Given the description of an element on the screen output the (x, y) to click on. 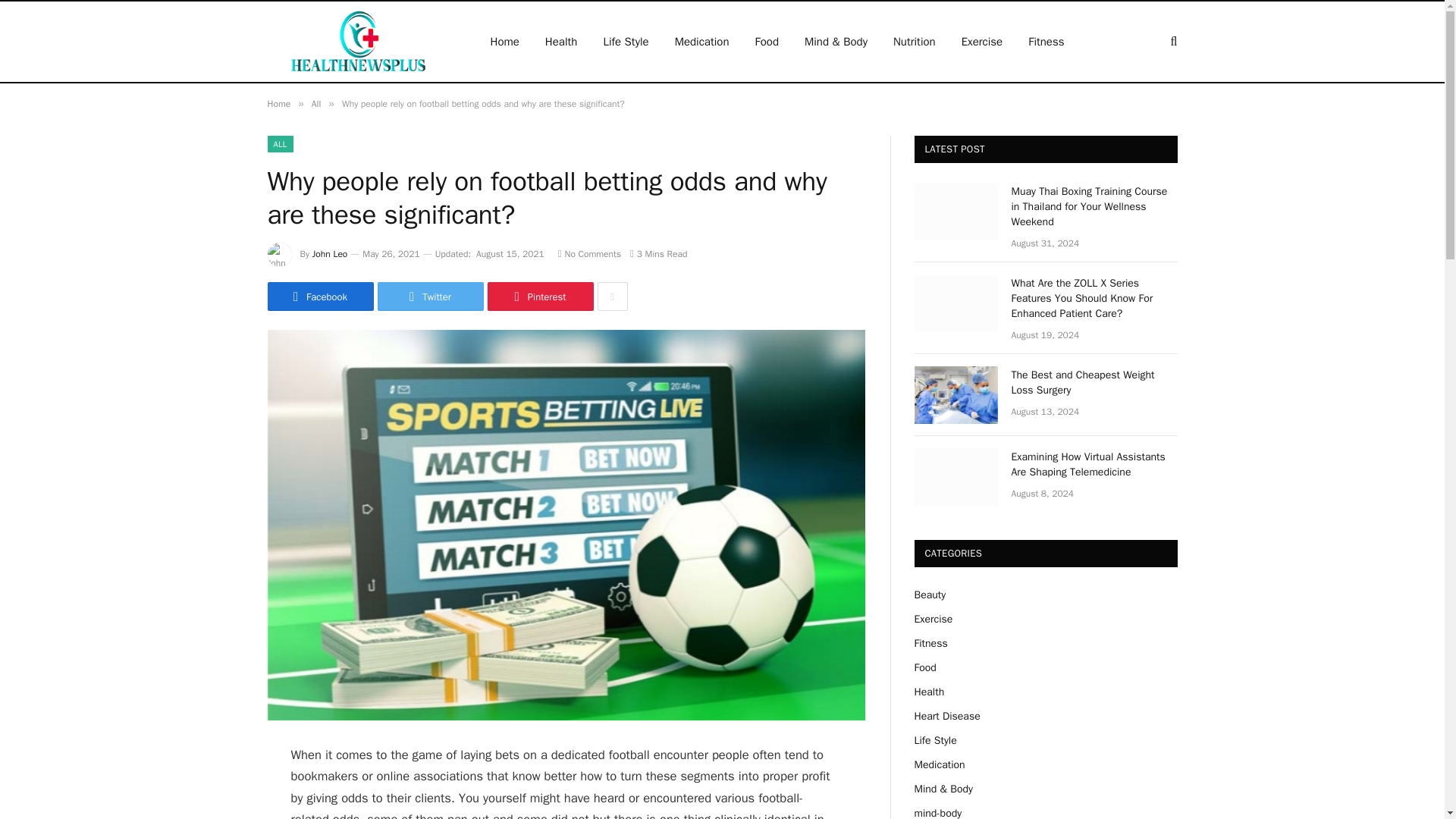
Show More Social Sharing (611, 296)
Home (277, 103)
John Leo (330, 254)
Healthnewsplus.net (357, 41)
Share on Facebook (319, 296)
Pinterest (539, 296)
Share on Pinterest (539, 296)
Posts by John Leo (330, 254)
No Comments (589, 254)
